Given the description of an element on the screen output the (x, y) to click on. 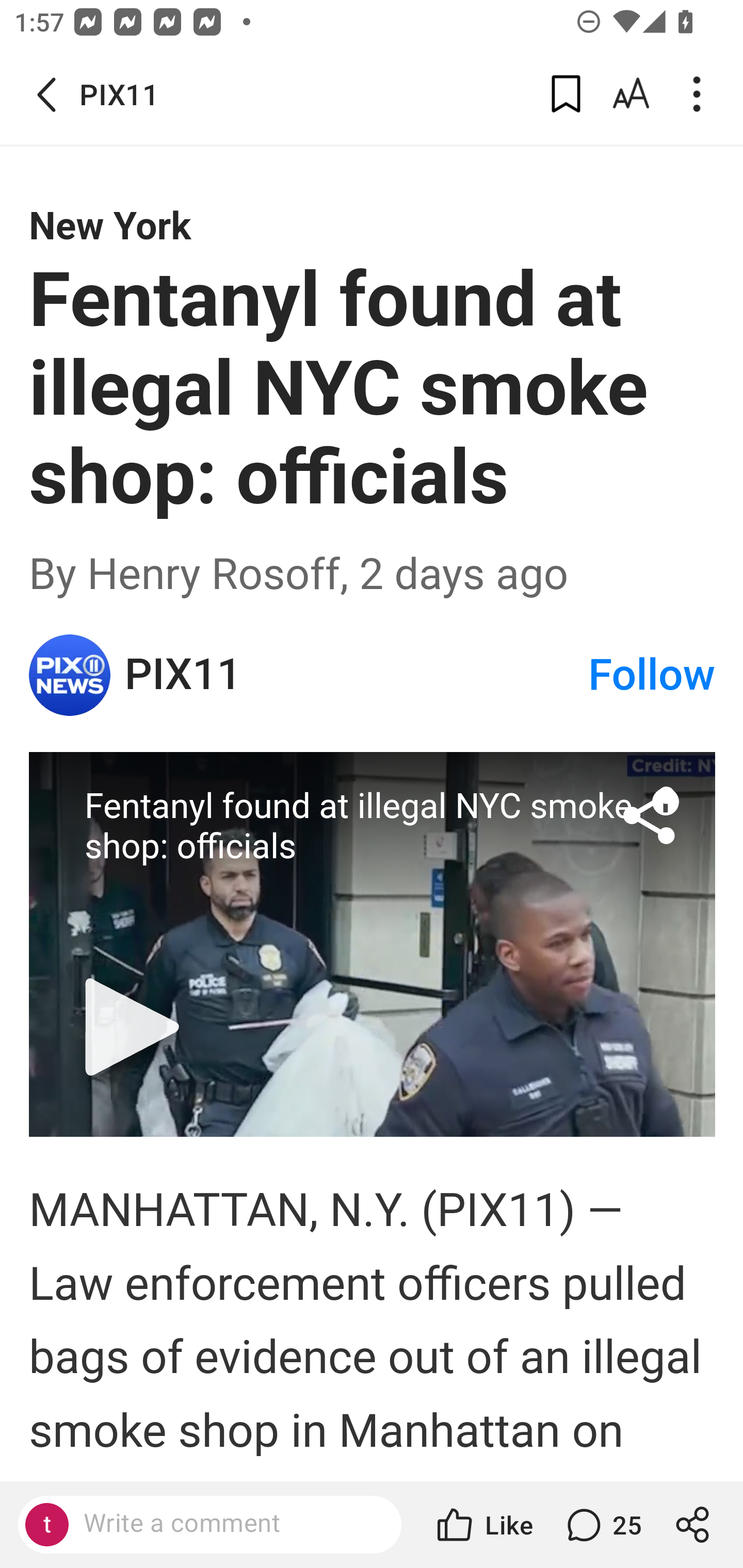
PIX11 (70, 674)
PIX11 (355, 674)
Follow (651, 674)
Like (483, 1524)
25 (601, 1524)
Write a comment (209, 1524)
Write a comment (226, 1523)
